Given the description of an element on the screen output the (x, y) to click on. 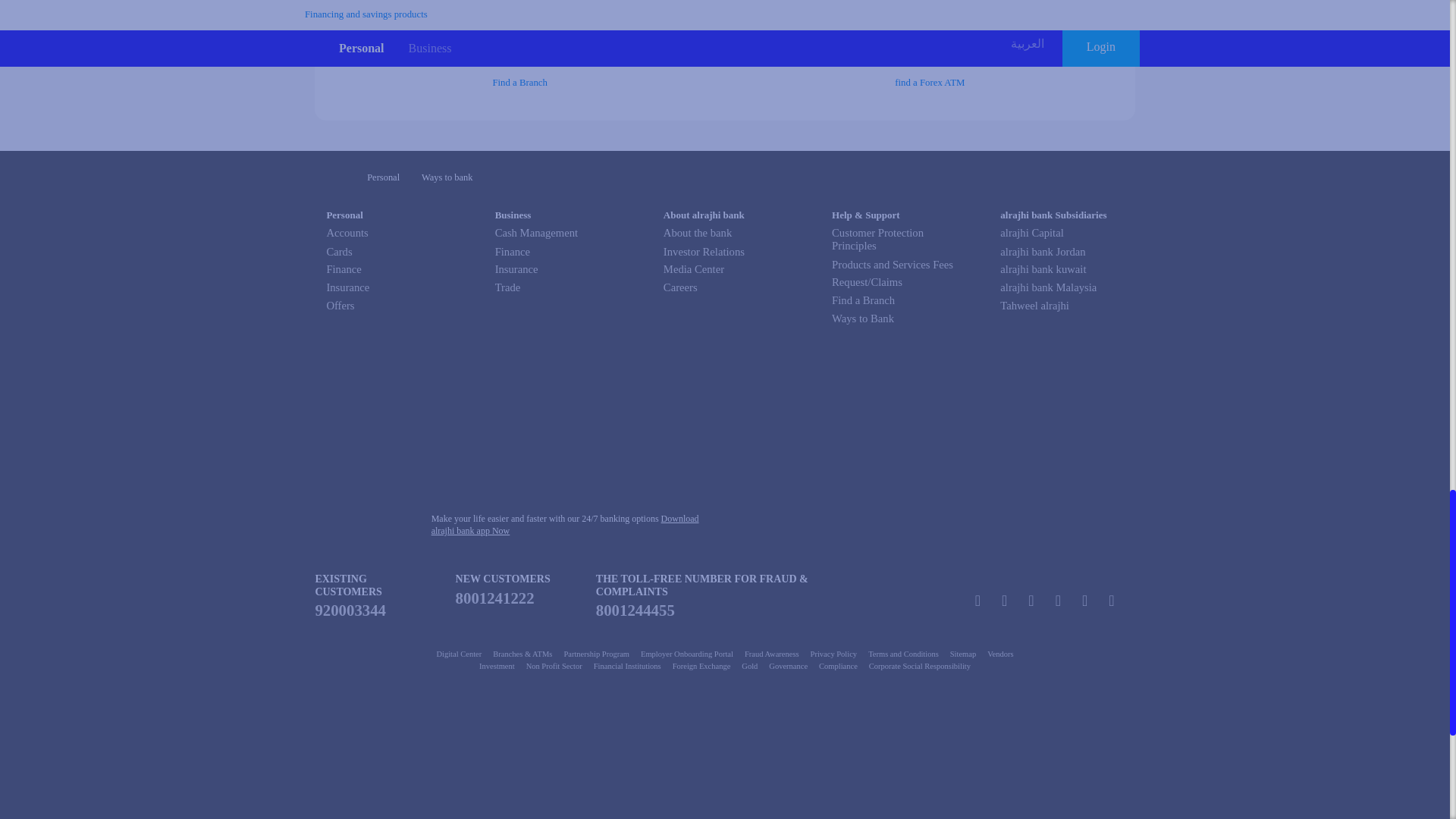
Investor Relations (703, 251)
Finance (343, 269)
About the bank (724, 233)
Ways to bank (447, 177)
Alrajhi urpay (514, 812)
Mokafaa (555, 746)
Customer Protection Principles (893, 239)
Alrajhi neoleap (654, 812)
Our Duty (387, 746)
Media Center (693, 269)
